Given the description of an element on the screen output the (x, y) to click on. 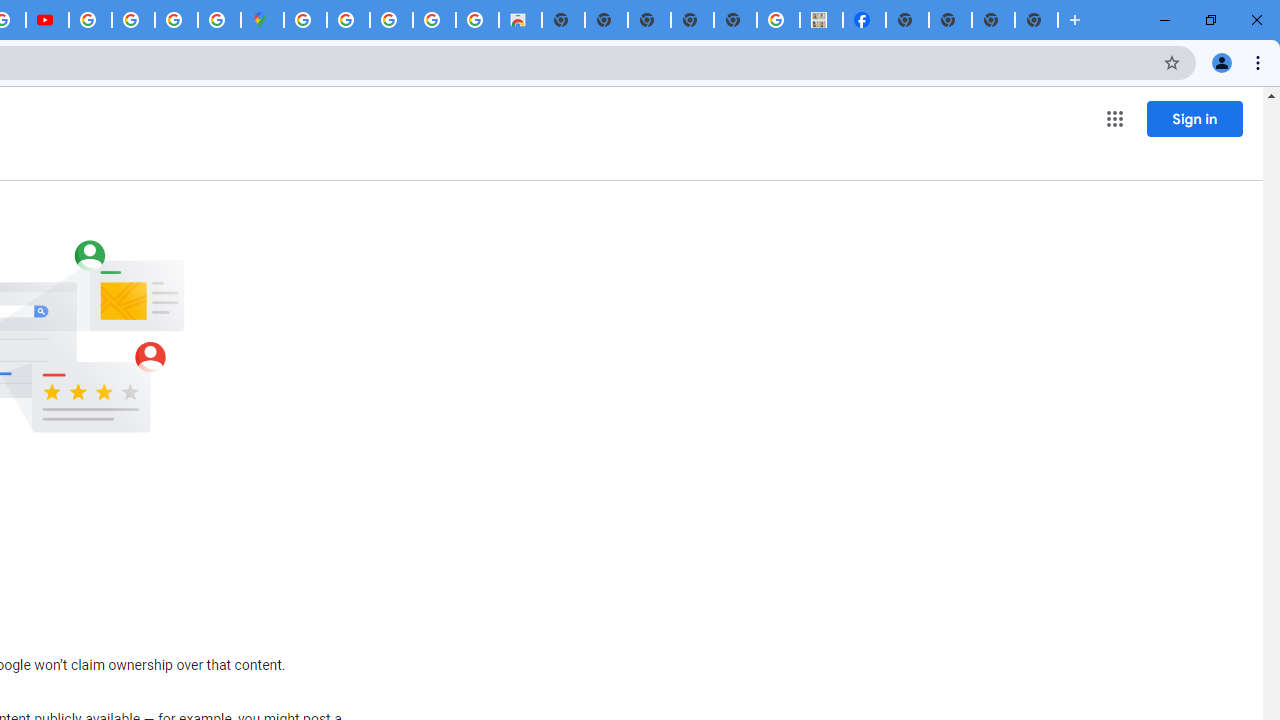
Miley Cyrus | Facebook (864, 20)
MILEY CYRUS. (821, 20)
Chrome Web Store - Shopping (520, 20)
Google Maps (262, 20)
